Given the description of an element on the screen output the (x, y) to click on. 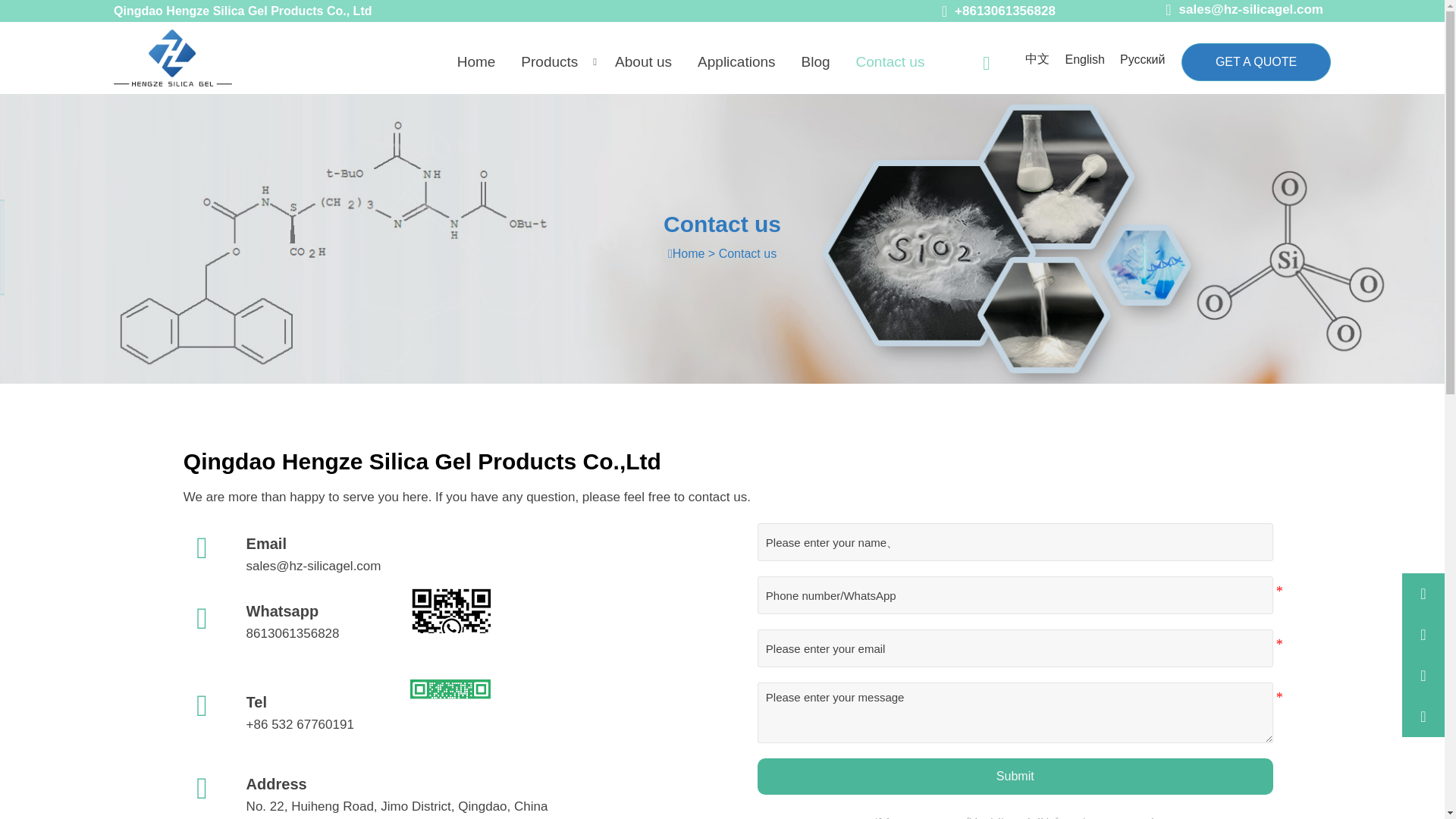
Blog (819, 61)
8613061356828 (310, 634)
Home (480, 61)
English (1084, 59)
Contact us (747, 253)
About us (646, 61)
Home (688, 253)
GET A QUOTE (1255, 62)
Contact us (894, 61)
Applications (740, 61)
